Given the description of an element on the screen output the (x, y) to click on. 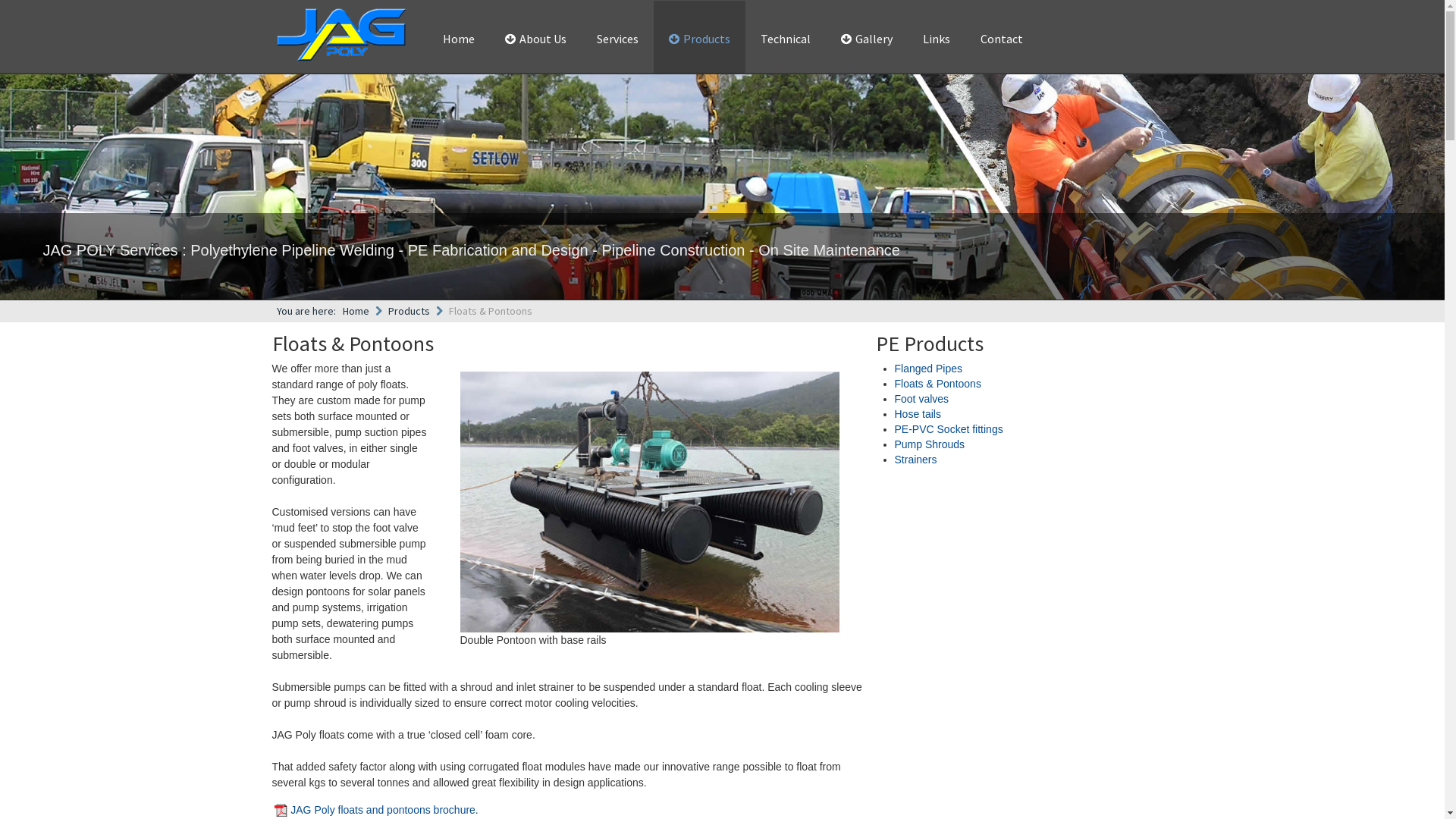
Hose tails Element type: text (917, 413)
Gallery Element type: text (865, 38)
Technical Element type: text (784, 38)
Services Element type: text (616, 38)
Products Element type: text (699, 38)
Double Pontoon with base rails Element type: hover (648, 501)
PE-PVC Socket fittings Element type: text (948, 429)
Pump Shrouds Element type: text (929, 444)
Floats & Pontoons Element type: text (937, 383)
Strainers Element type: text (915, 459)
JAG Poly floats and pontoons brochure. Element type: text (383, 809)
Home Element type: text (458, 38)
Foot valves Element type: text (921, 398)
About Us Element type: text (535, 38)
Flanged Pipes Element type: text (928, 368)
Links Element type: text (935, 38)
Home Element type: text (355, 310)
Products Element type: text (408, 310)
Contact Element type: text (1000, 38)
